Given the description of an element on the screen output the (x, y) to click on. 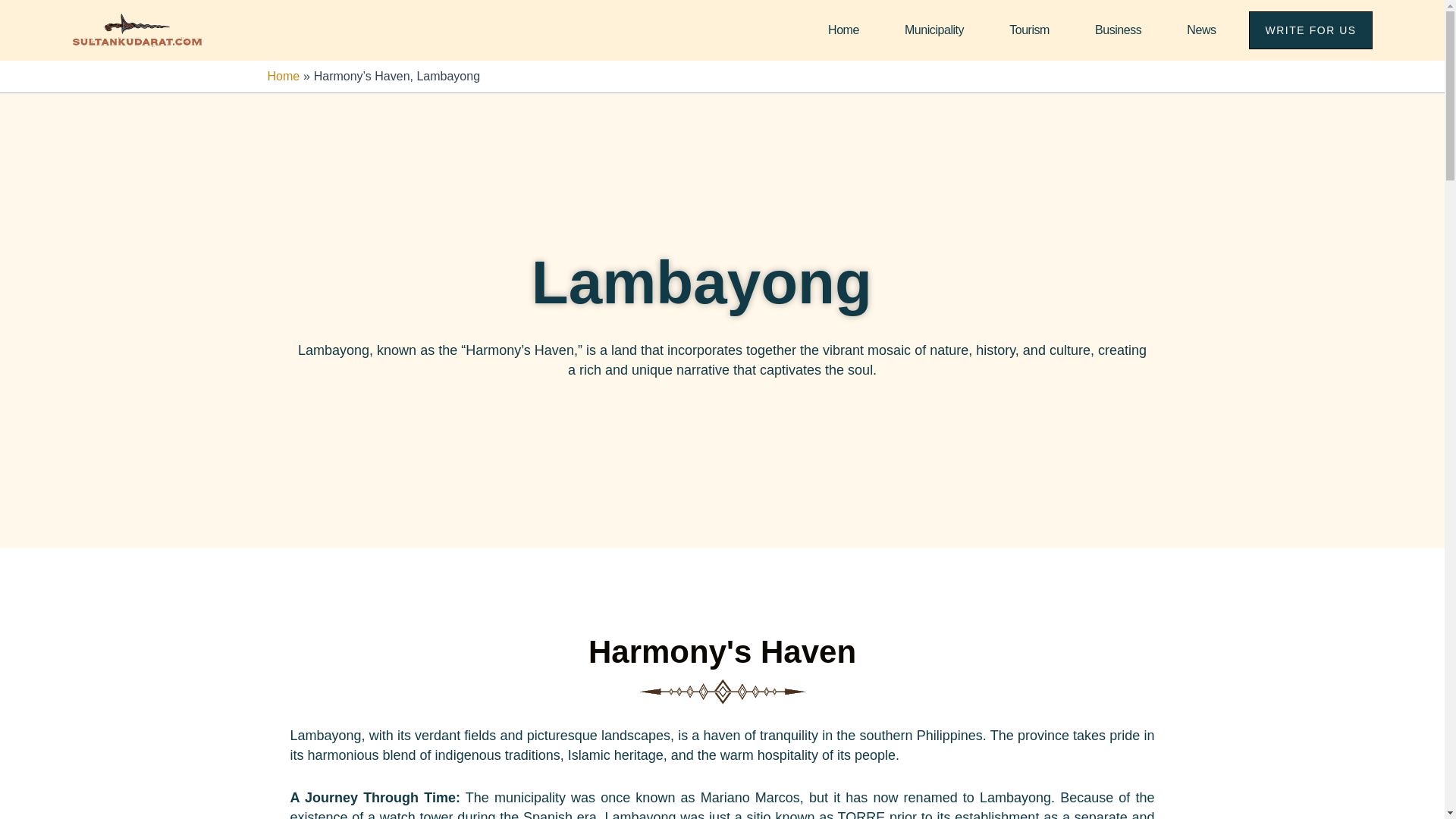
Business (1117, 30)
Municipality (933, 30)
Tourism (1029, 30)
Home (843, 30)
News (1201, 30)
